Given the description of an element on the screen output the (x, y) to click on. 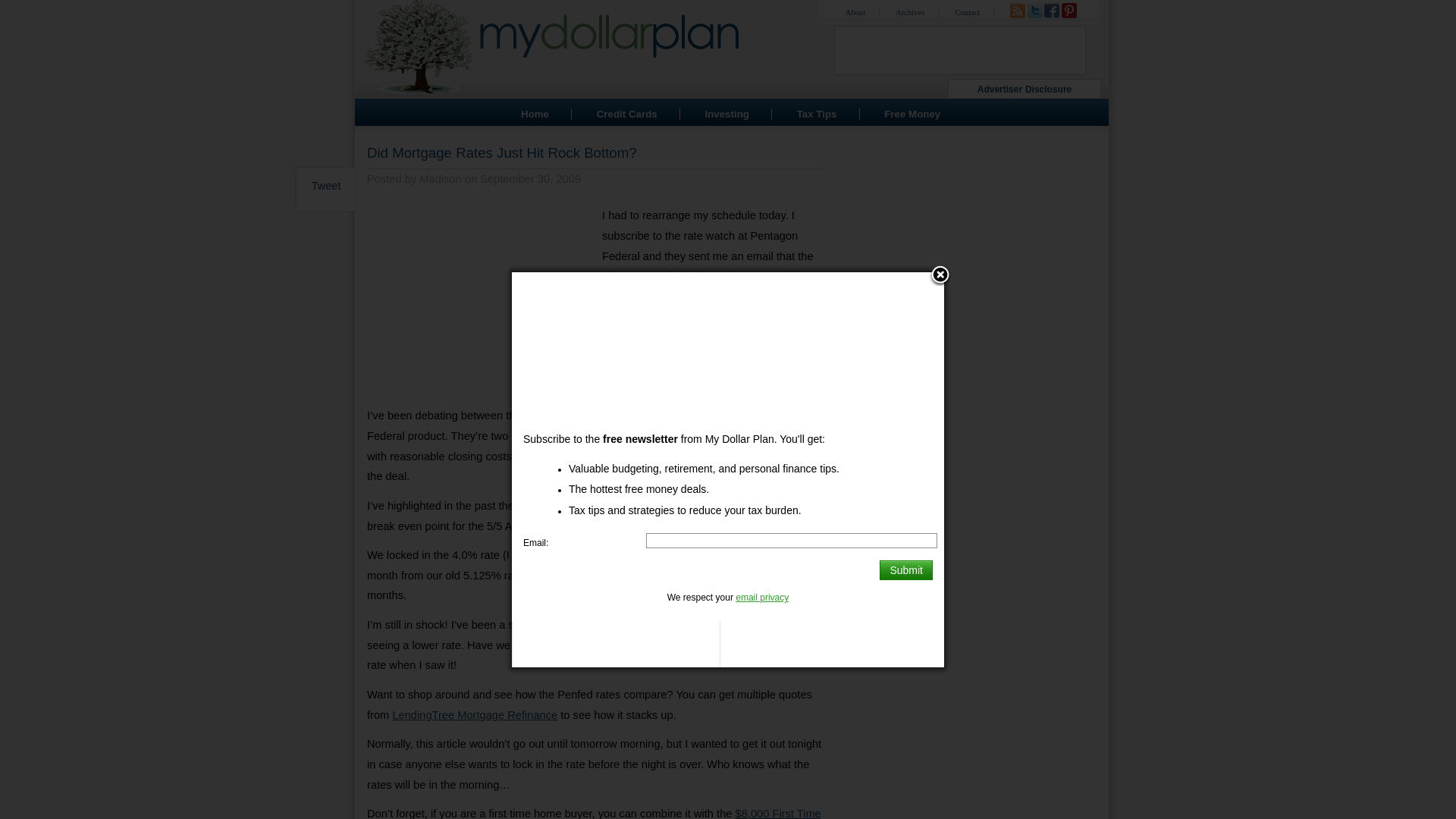
Archives (909, 12)
Investing (726, 113)
ING Direct (680, 415)
Tax Tips (816, 113)
Credit Cards (627, 113)
the perfect ten year mortgage (697, 505)
Free Money (911, 113)
refinance (700, 366)
Home (534, 113)
Home (534, 113)
Did Mortgage Rates Just Hit Rock Bottom? (501, 152)
Credit Cards (627, 113)
Submit (906, 569)
About (855, 12)
Did Mortgage Rates Just Hit Rock Bottom? (501, 152)
